Given the description of an element on the screen output the (x, y) to click on. 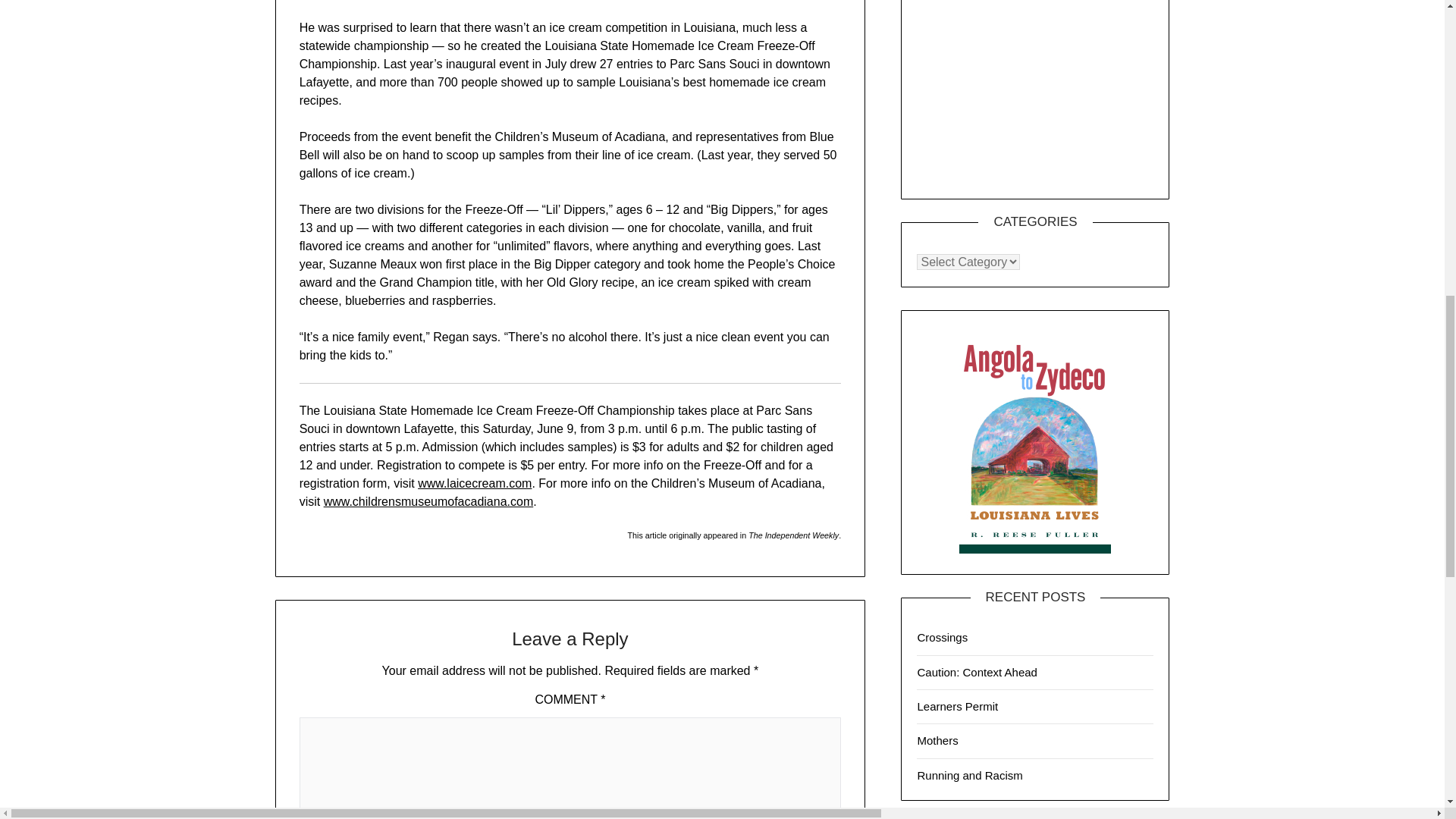
Caution: Context Ahead (976, 671)
Mothers (937, 739)
www.laicecream.com (474, 482)
Running and Racism (969, 775)
Learners Permit (957, 706)
www.childrensmuseumofacadiana.com (428, 501)
Crossings (942, 636)
